Given the description of an element on the screen output the (x, y) to click on. 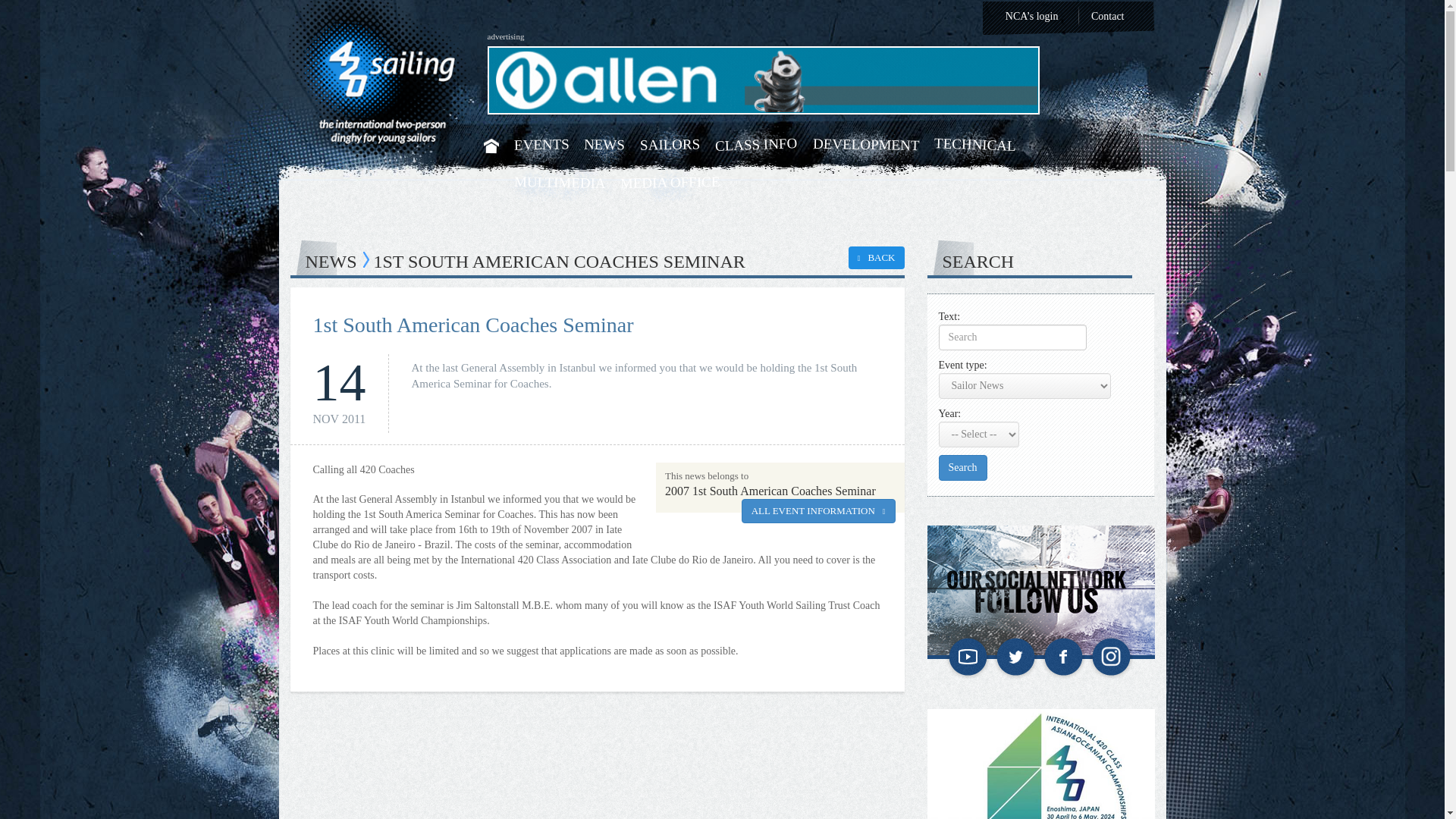
Contact (1107, 16)
NEWS (603, 143)
SAILORS (669, 143)
EVENTS (540, 143)
Search (963, 467)
CLASS INFO (756, 142)
